Given the description of an element on the screen output the (x, y) to click on. 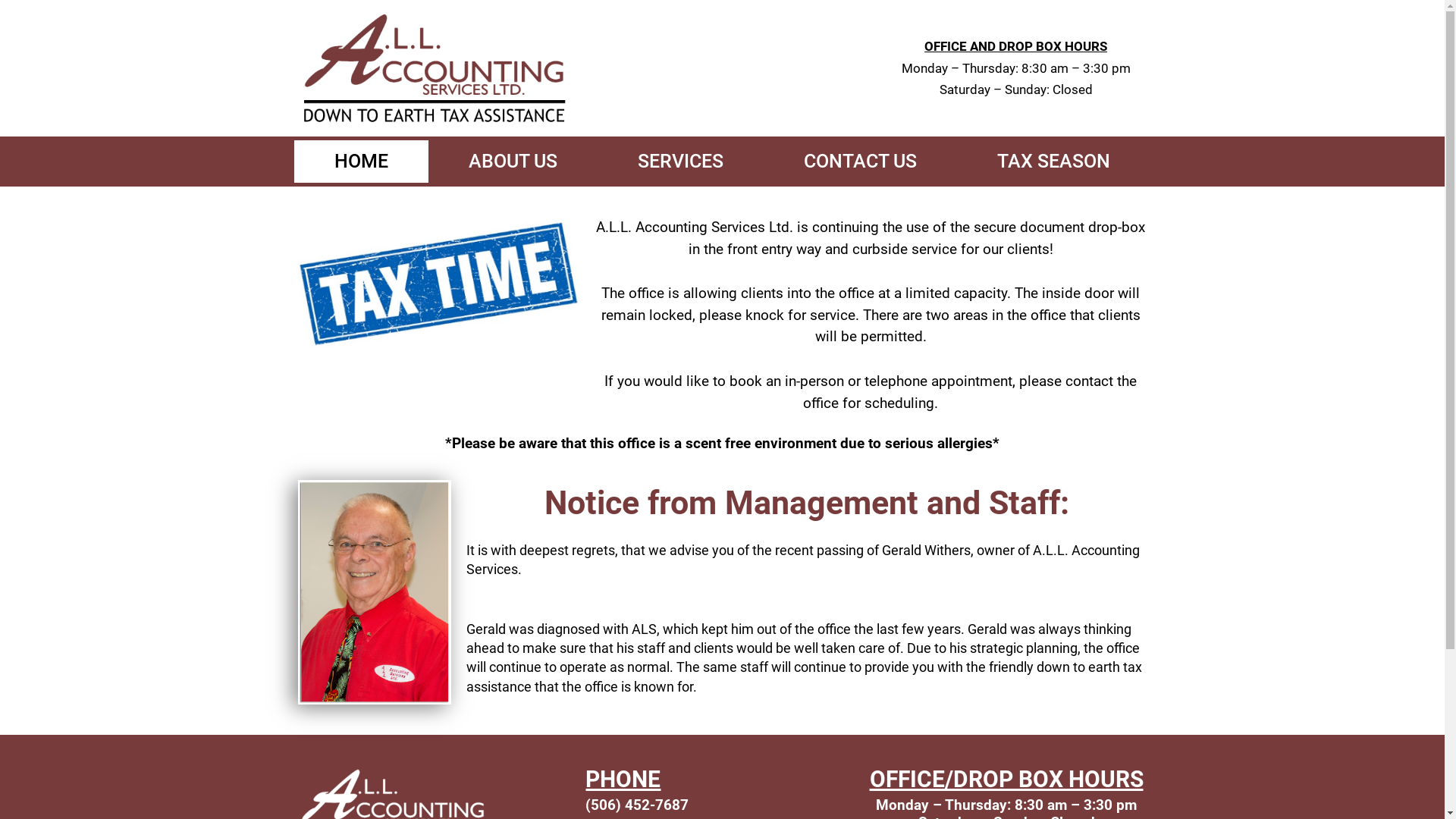
CONTACT US Element type: text (860, 161)
TAX SEASON Element type: text (1053, 161)
(506) 452-7687 Element type: text (636, 804)
ABOUT US Element type: text (512, 161)
SERVICES Element type: text (680, 161)
HOME Element type: text (361, 161)
